Given the description of an element on the screen output the (x, y) to click on. 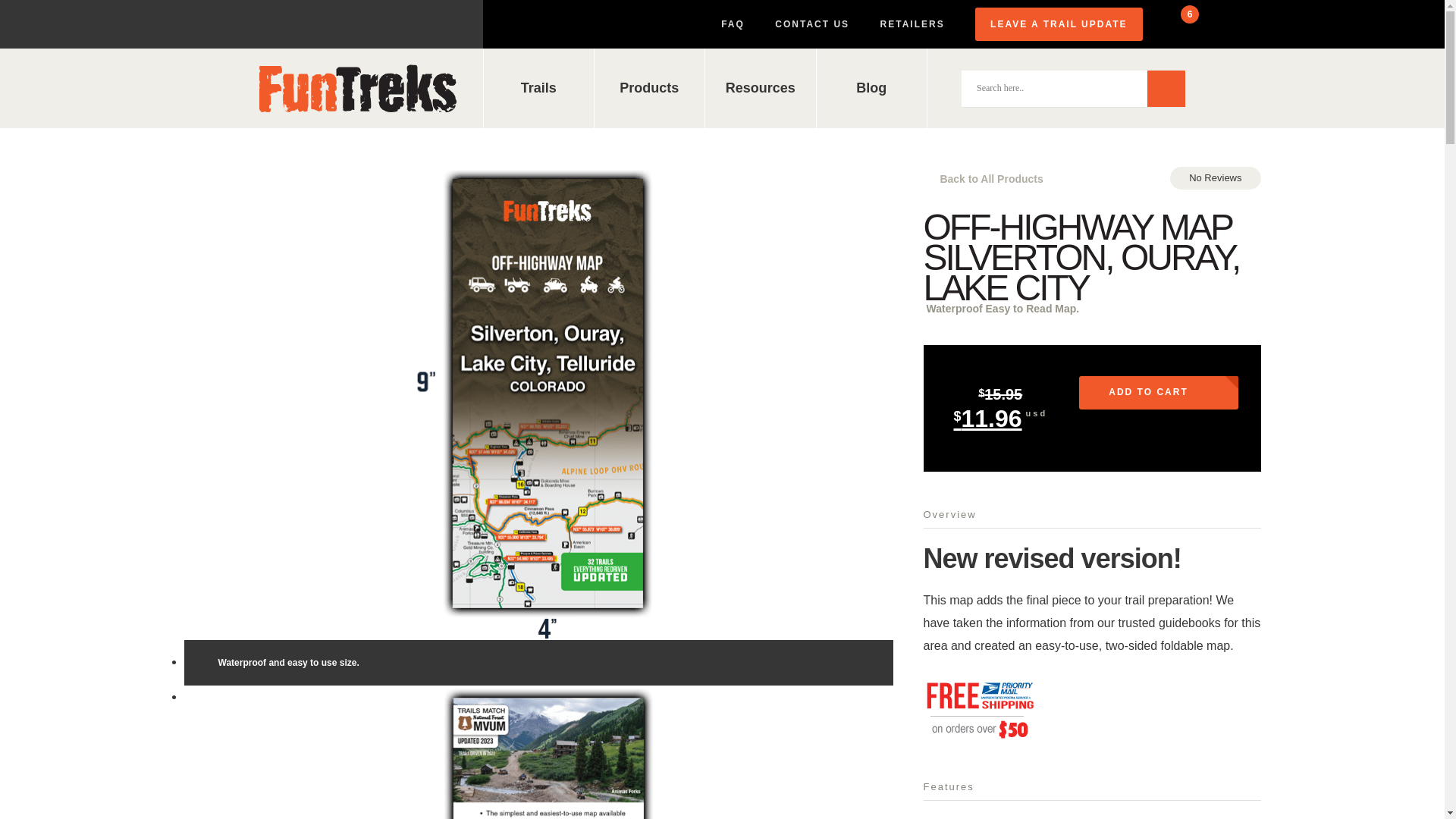
CONTACT US (811, 24)
FAQ (732, 24)
Blog (870, 87)
Back to All Products (983, 178)
Resources (759, 87)
RETAILERS (912, 24)
Trails (538, 87)
6 (1177, 24)
LEAVE A TRAIL UPDATE (1058, 23)
Products (649, 87)
ADD TO CART (1157, 392)
